Given the description of an element on the screen output the (x, y) to click on. 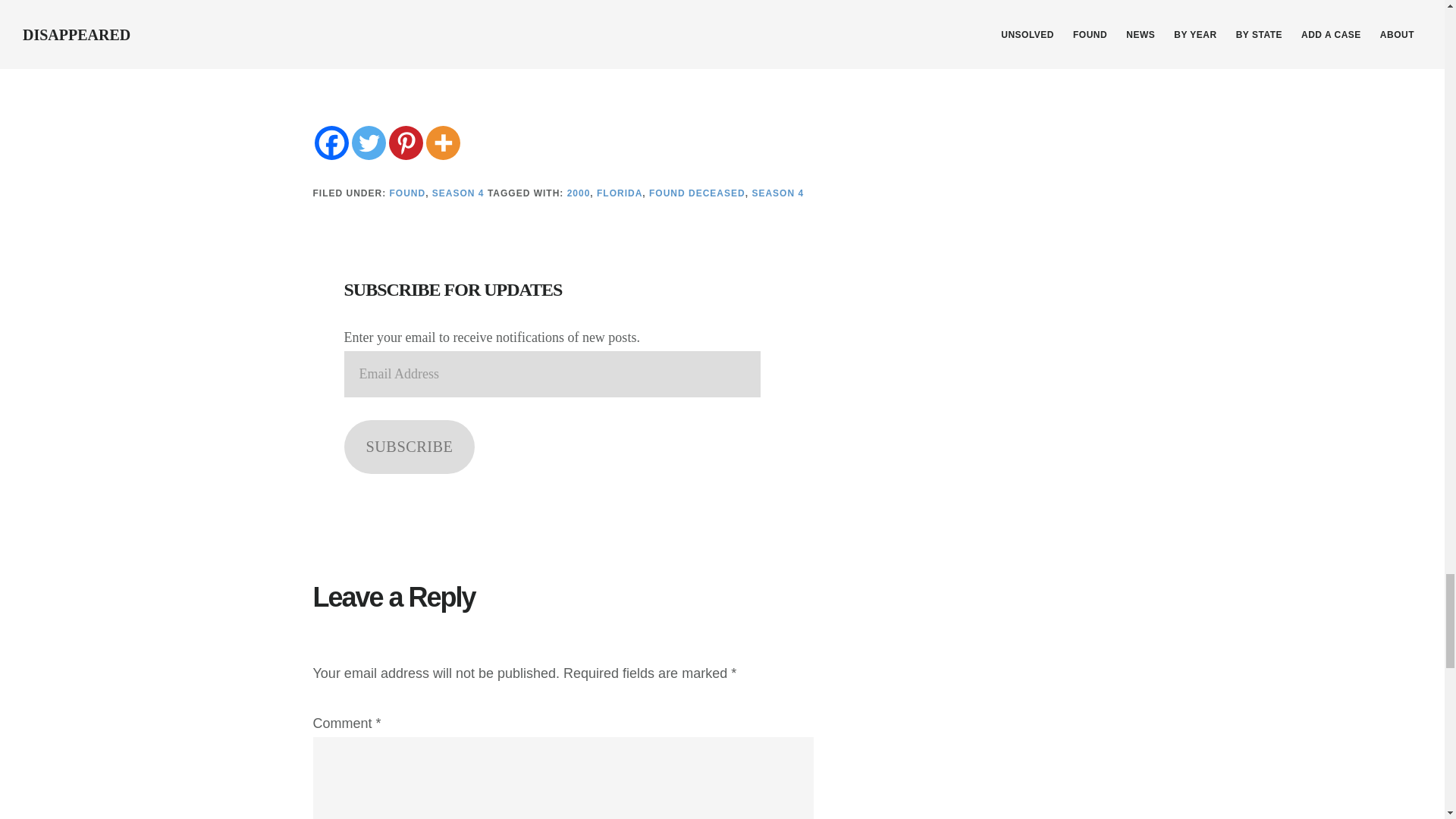
Pinterest (405, 142)
2000 (579, 193)
More (443, 142)
FOUND DECEASED (697, 193)
Facebook (330, 142)
Twitter (368, 142)
FOUND (408, 193)
SEASON 4 (458, 193)
FLORIDA (619, 193)
SEASON 4 (777, 193)
SUBSCRIBE (409, 447)
